Given the description of an element on the screen output the (x, y) to click on. 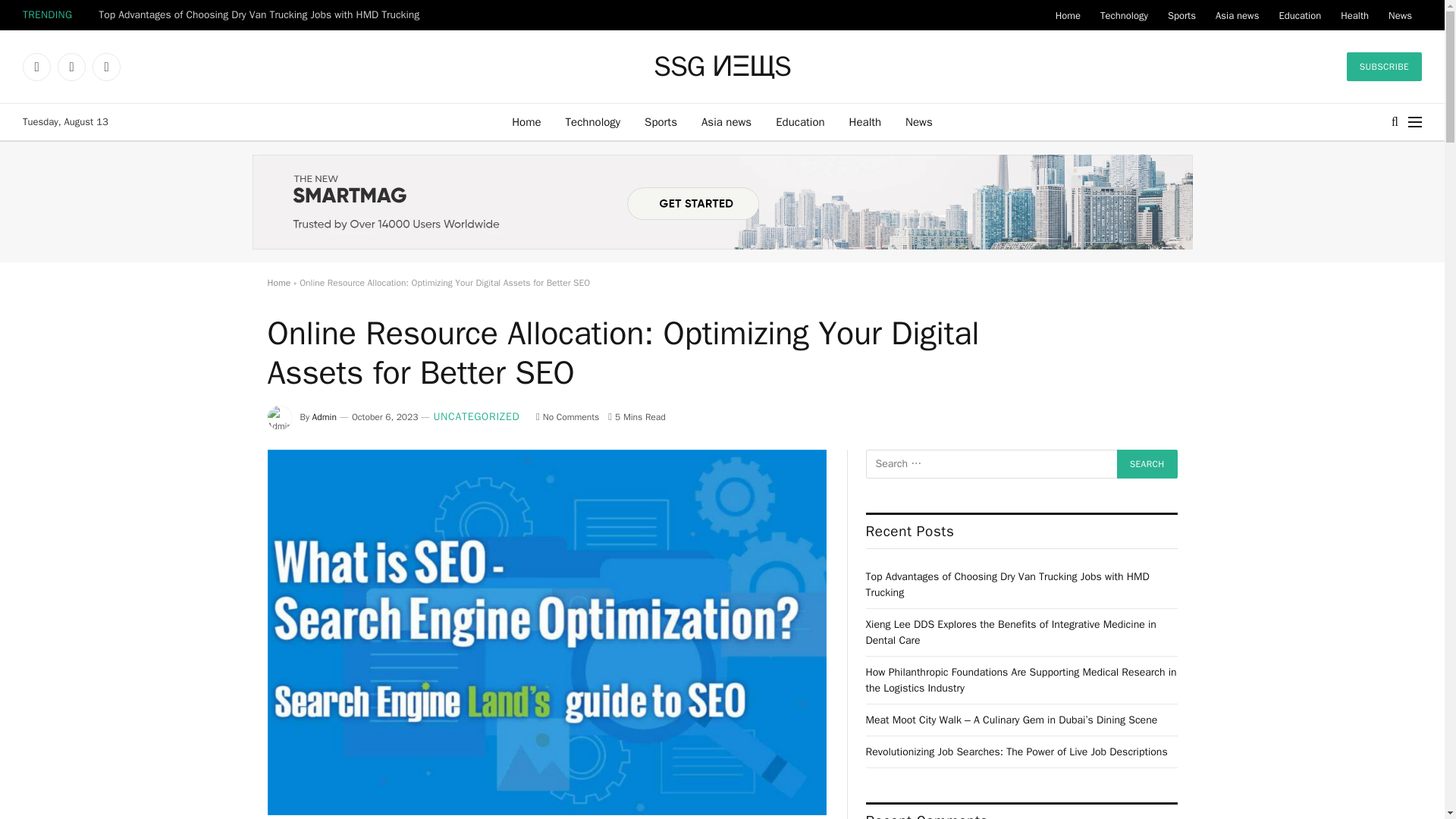
News (1400, 15)
Asia news (1236, 15)
SUBSCRIBE (1384, 66)
Technology (593, 122)
News (918, 122)
Sports (659, 122)
Education (798, 122)
Posts by Admin (324, 417)
Home (526, 122)
Search (1146, 463)
